Given the description of an element on the screen output the (x, y) to click on. 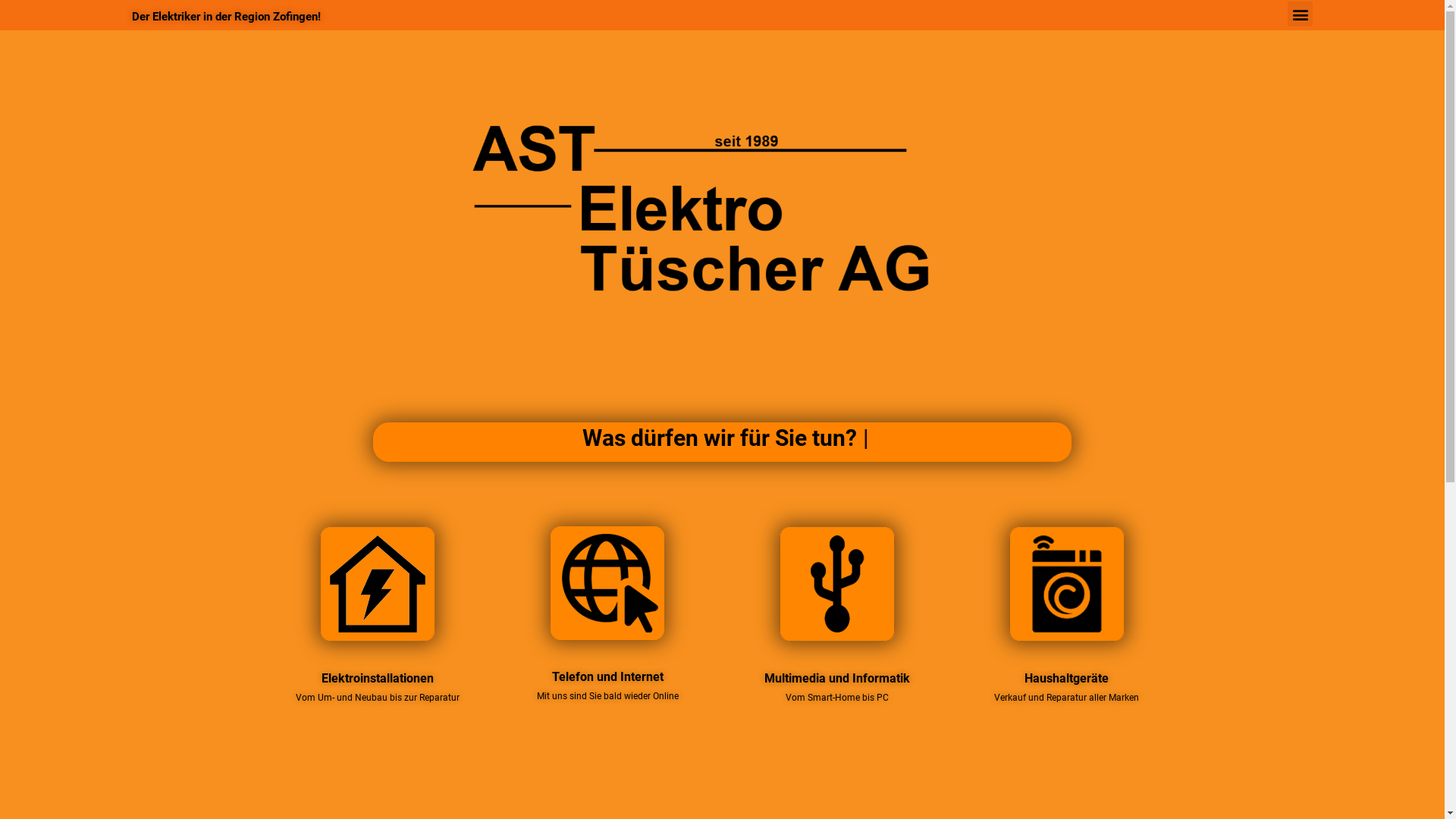
Elektroinstallationen Element type: hover (377, 583)
Internet & Telefonie Element type: hover (607, 583)
Multimedia & Informatik Element type: hover (836, 583)
